Given the description of an element on the screen output the (x, y) to click on. 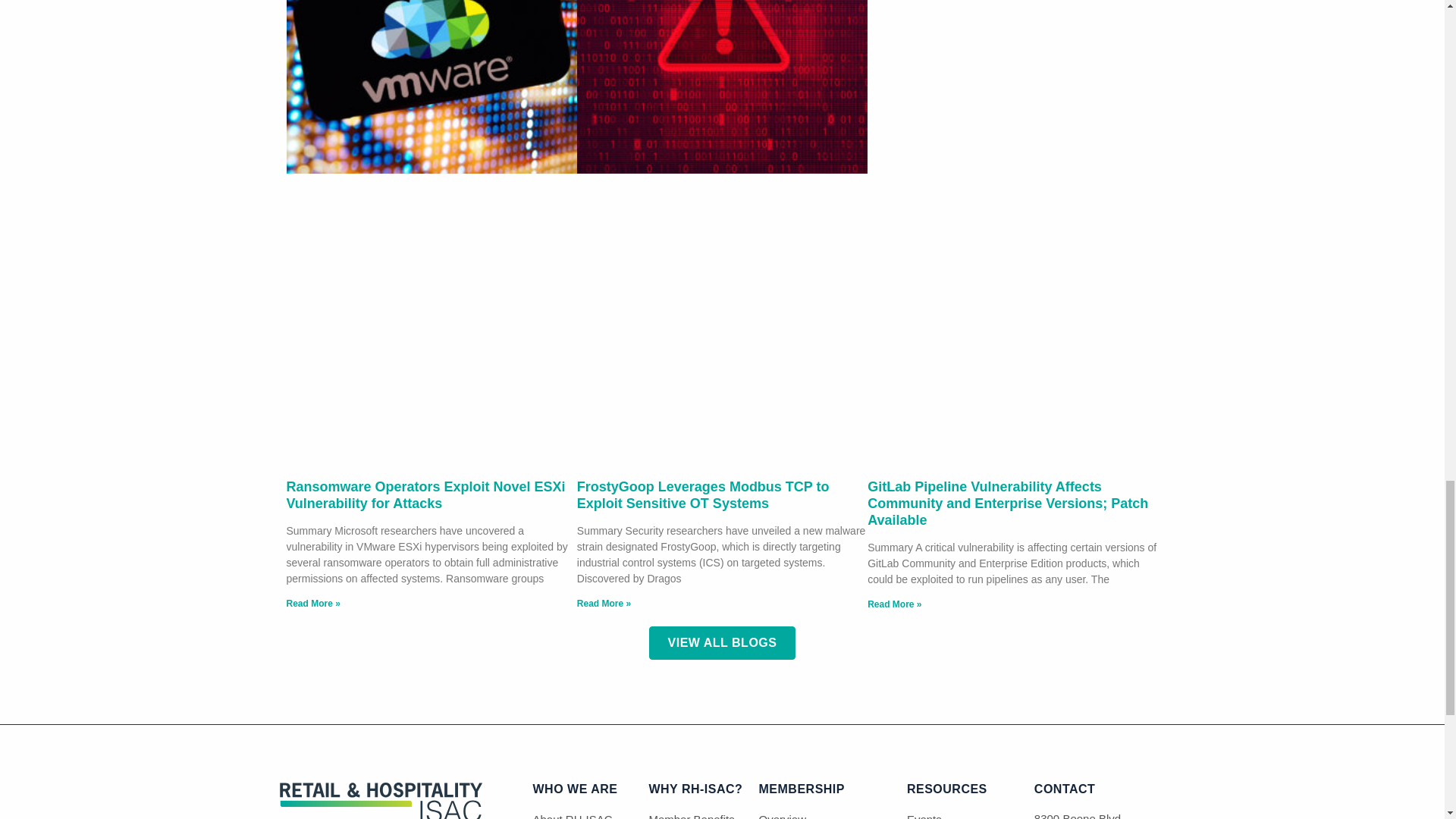
RH-ISAC (381, 815)
